Given the description of an element on the screen output the (x, y) to click on. 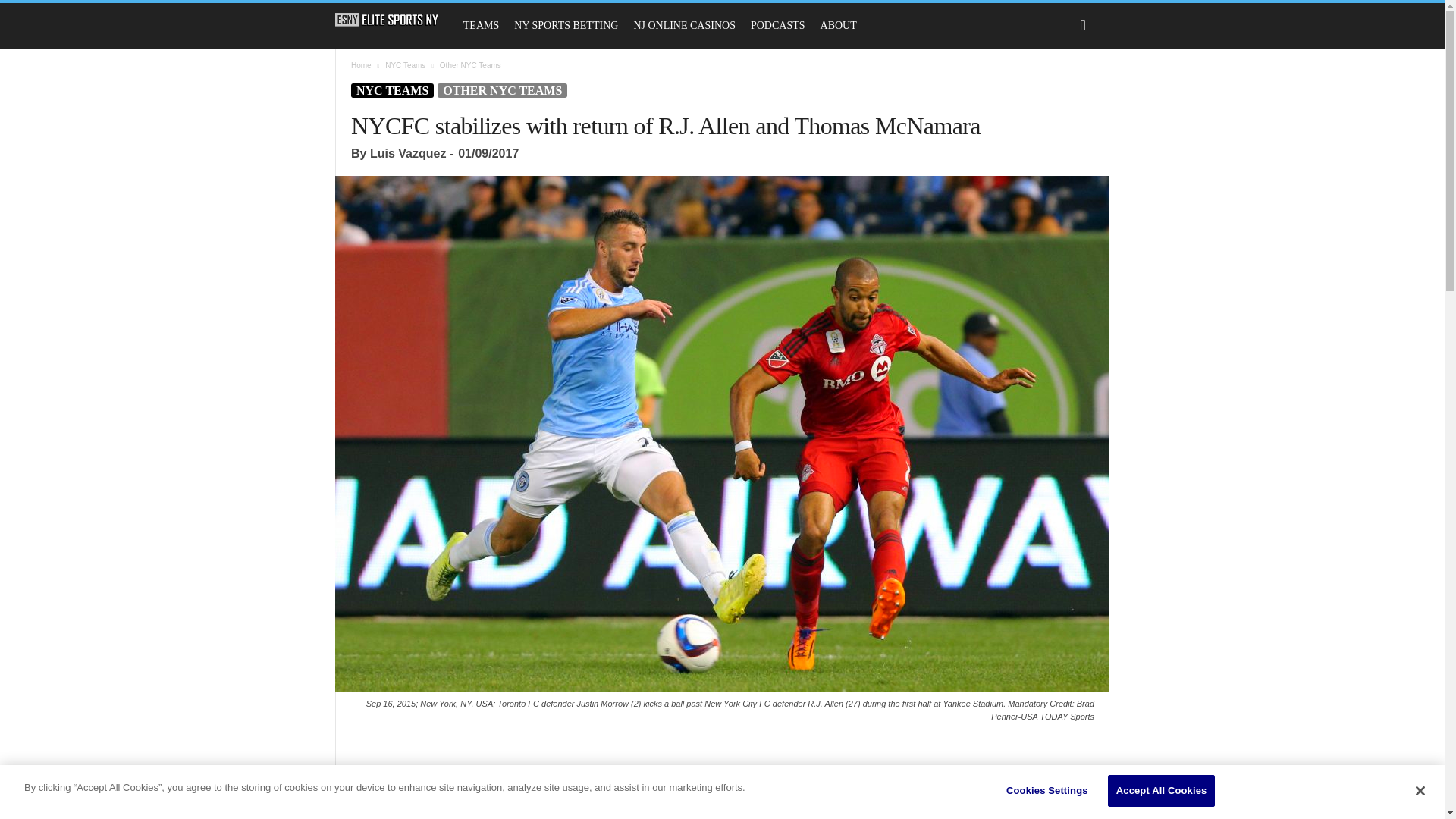
Elite Sports NY (386, 19)
Elite Sports NY (394, 19)
TEAMS (480, 25)
View all posts in NYC Teams (405, 65)
